Given the description of an element on the screen output the (x, y) to click on. 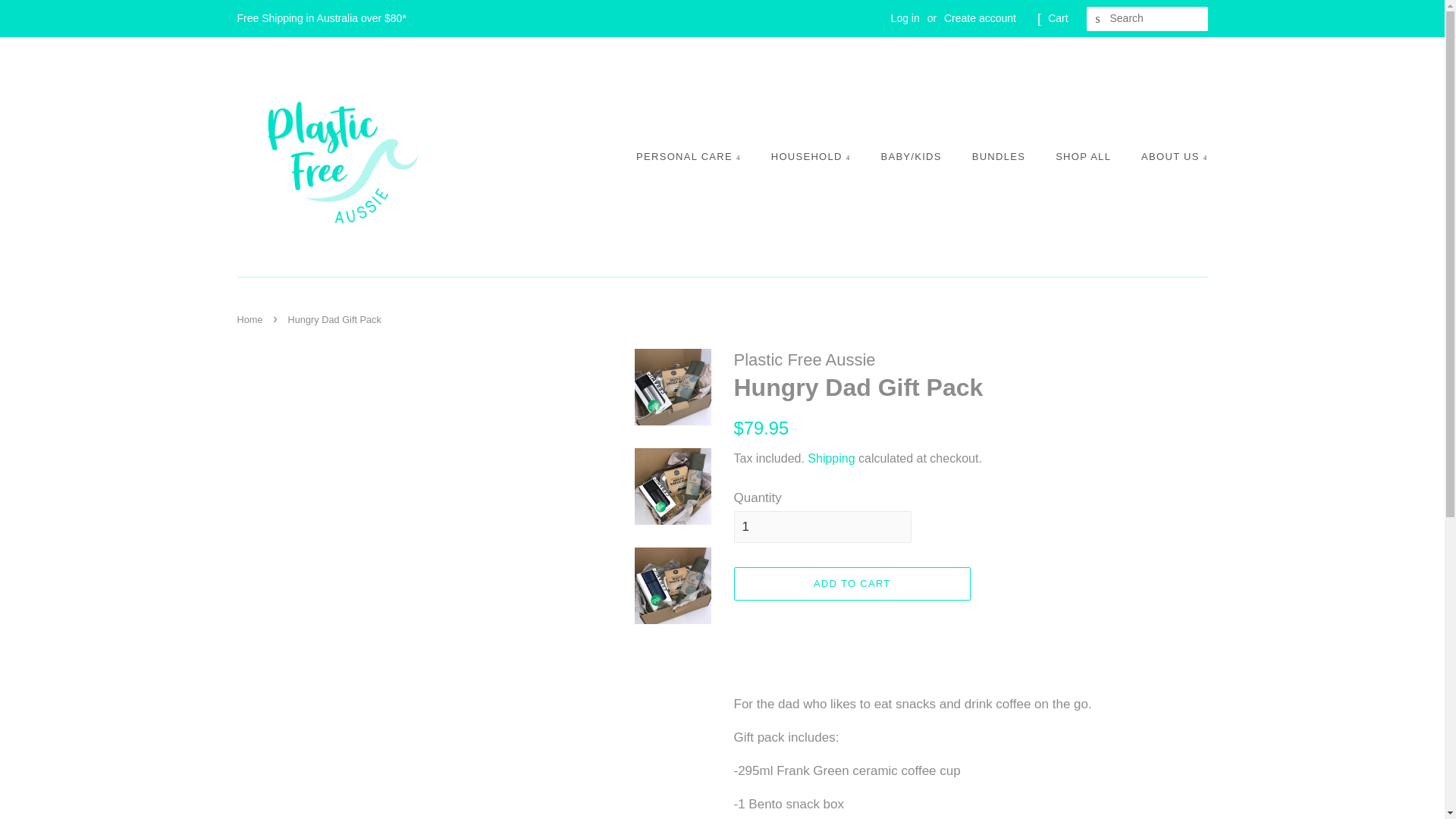
Cart (1057, 18)
SEARCH (1097, 18)
PERSONAL CARE (695, 156)
1 (822, 526)
Back to the frontpage (250, 319)
Create account (979, 18)
Log in (905, 18)
